Given the description of an element on the screen output the (x, y) to click on. 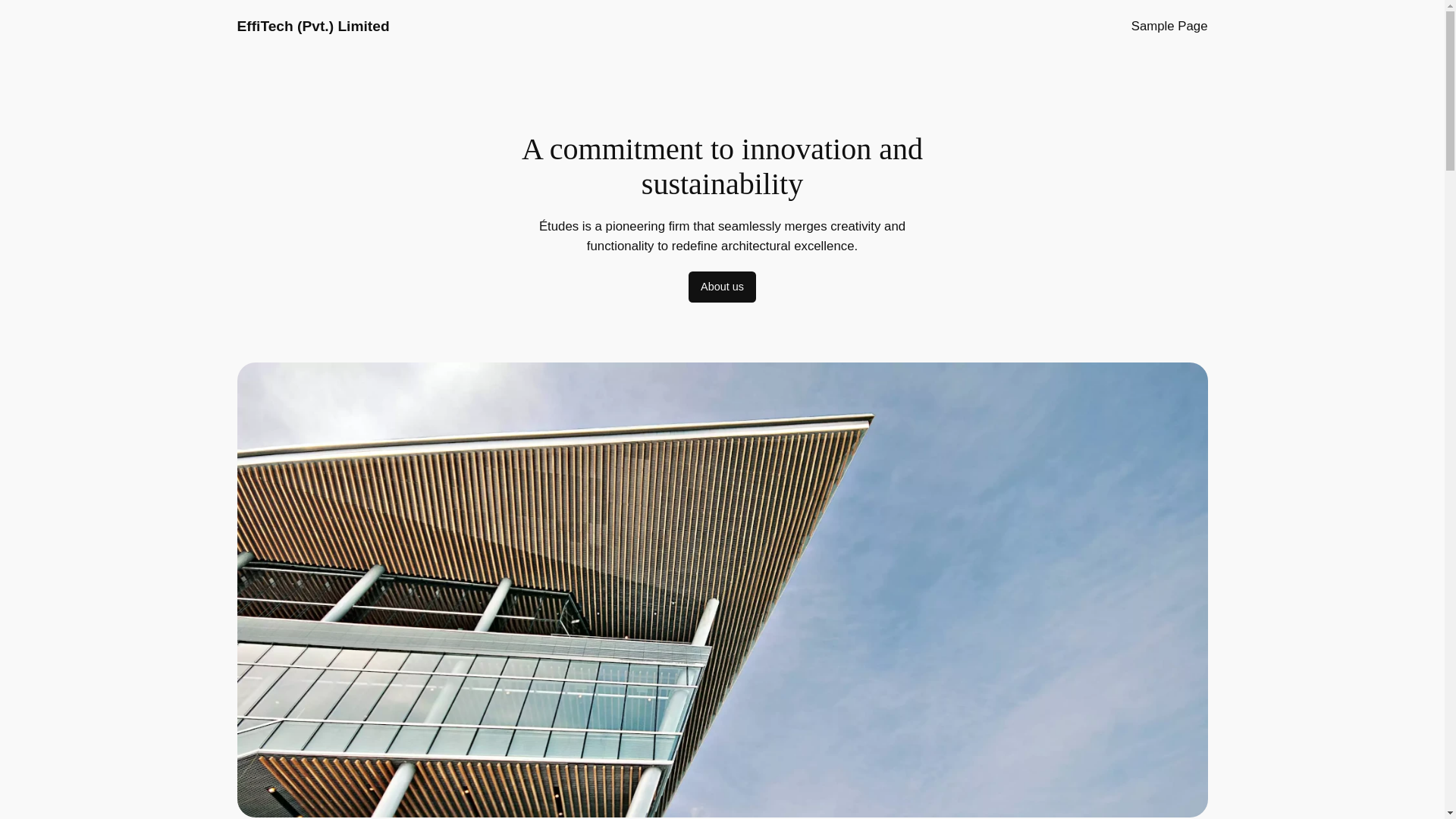
About us Element type: text (722, 287)
EffiTech (Pvt.) Limited Element type: text (312, 26)
Sample Page Element type: text (1169, 26)
